Given the description of an element on the screen output the (x, y) to click on. 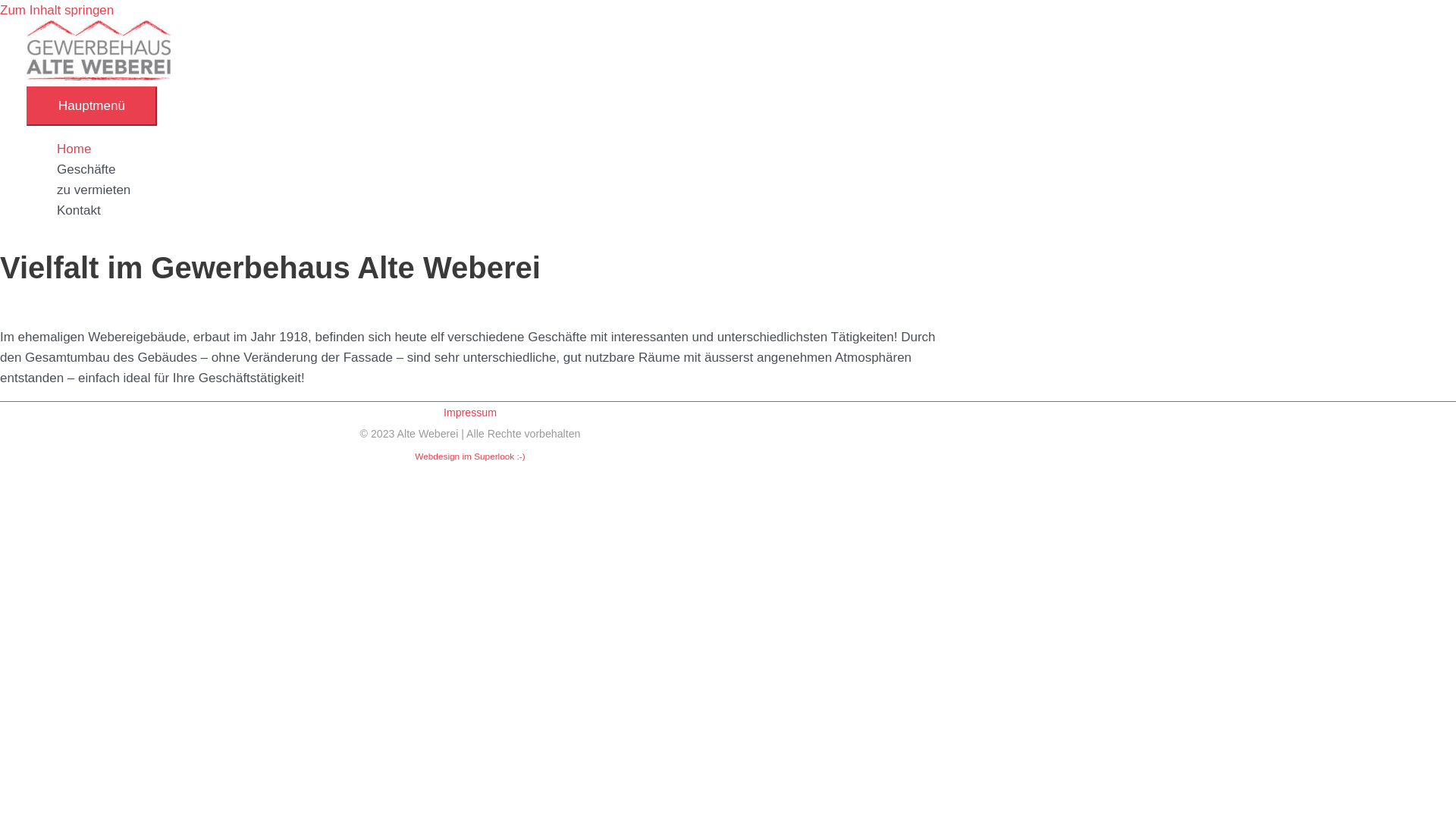
Kontakt Element type: text (742, 210)
Home Element type: text (742, 148)
Impressum Element type: text (469, 412)
Zum Inhalt springen Element type: text (56, 10)
Webdesign im Superlook :-) Element type: text (469, 456)
zu vermieten Element type: text (742, 189)
